Given the description of an element on the screen output the (x, y) to click on. 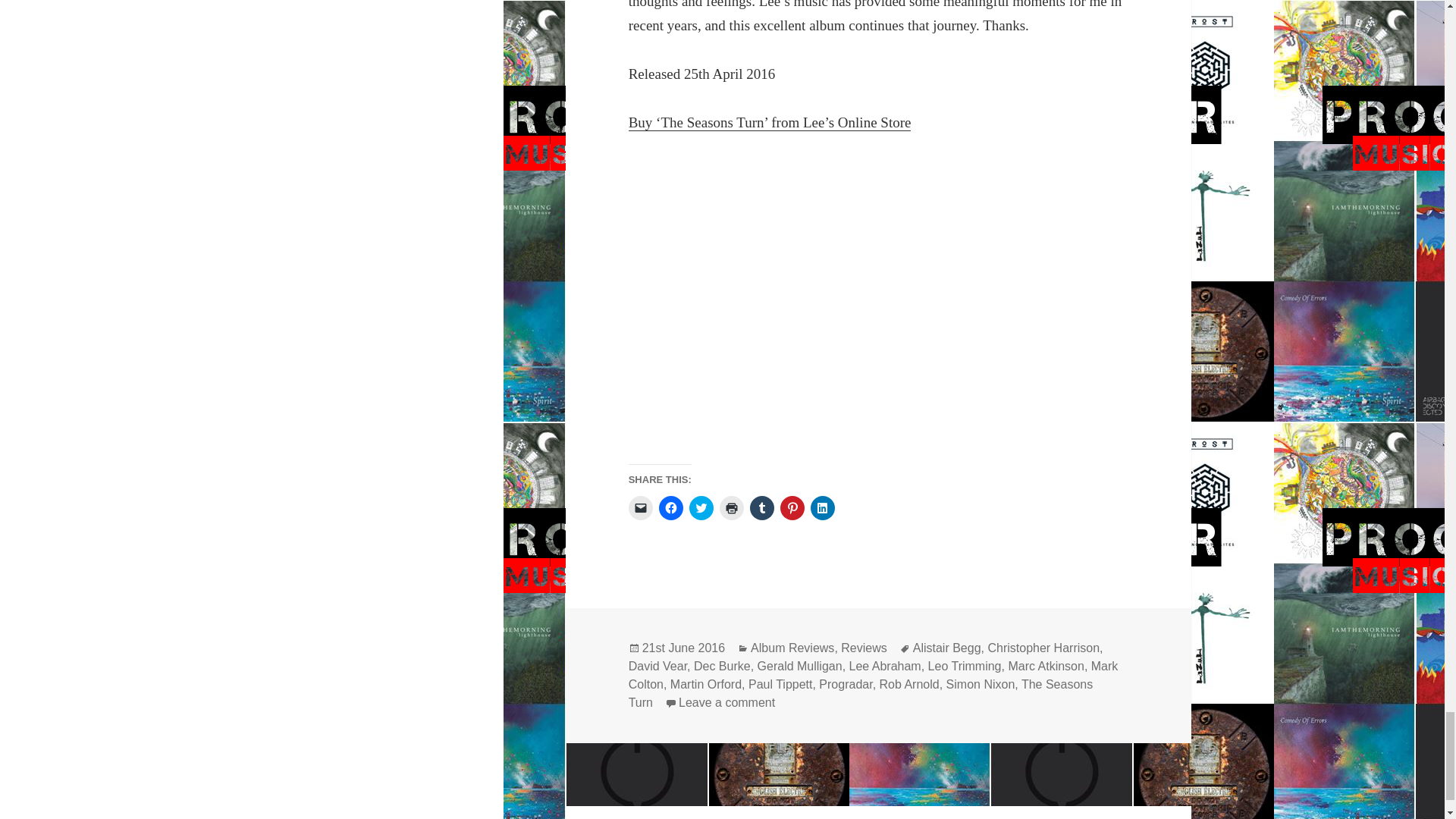
Click to print (731, 508)
Click to email a link to a friend (640, 508)
Click to share on Facebook (670, 508)
Click to share on LinkedIn (822, 508)
Click to share on Pinterest (792, 508)
Click to share on Twitter (700, 508)
Click to share on Tumblr (761, 508)
